Given the description of an element on the screen output the (x, y) to click on. 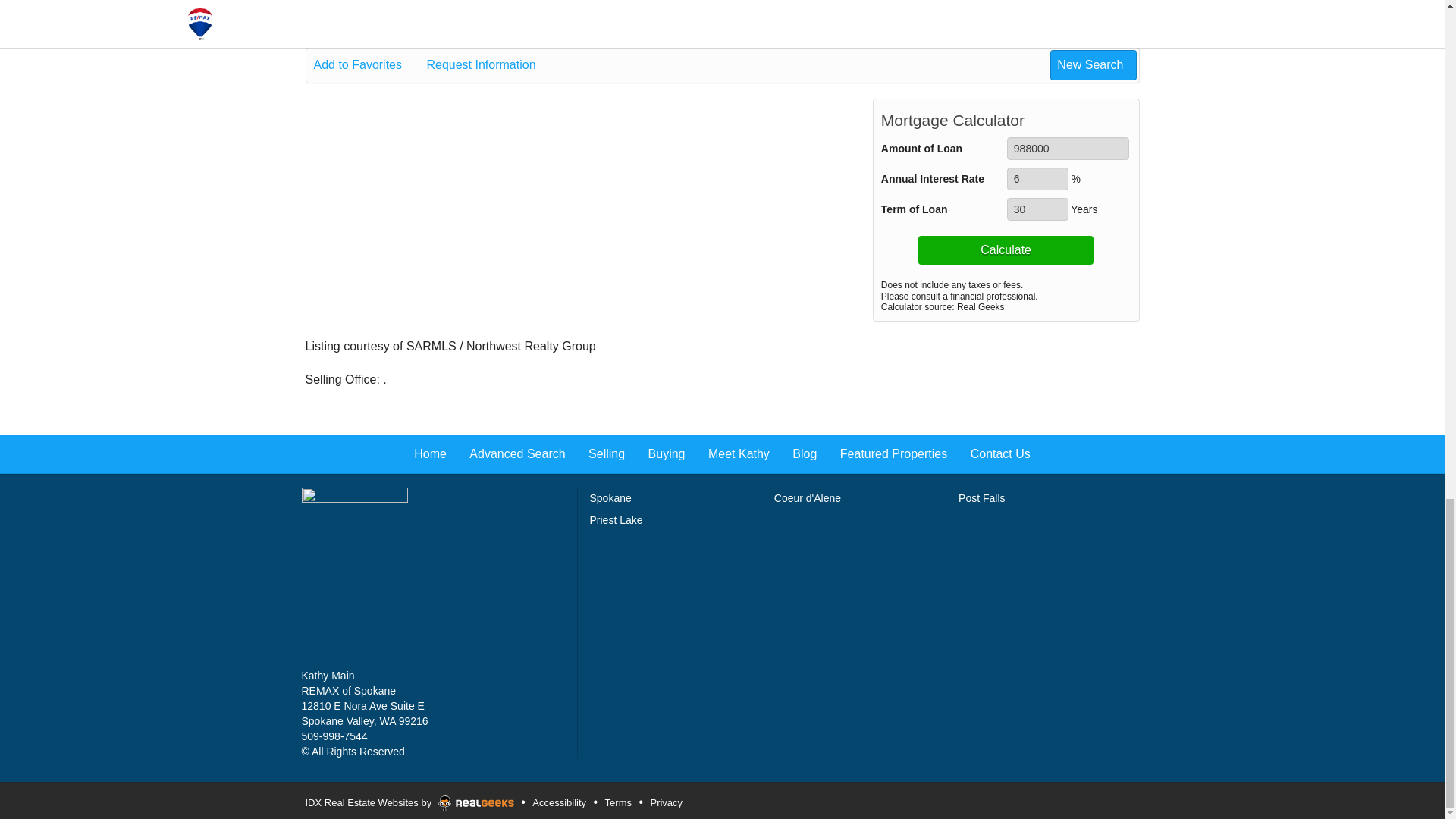
6 (1037, 178)
30 (1037, 209)
988000 (1068, 148)
